Given the description of an element on the screen output the (x, y) to click on. 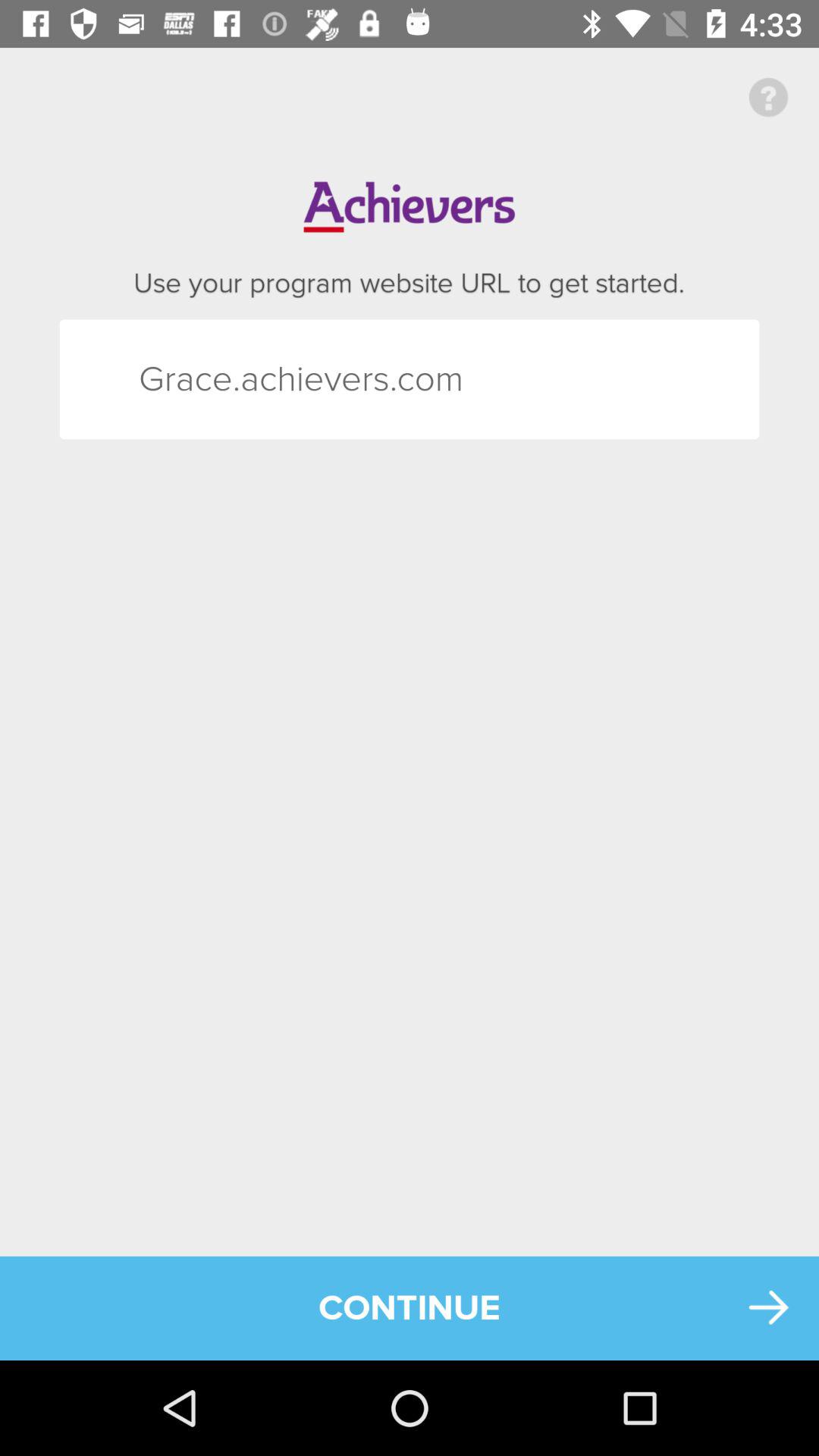
tap the icon above the continue item (768, 97)
